Given the description of an element on the screen output the (x, y) to click on. 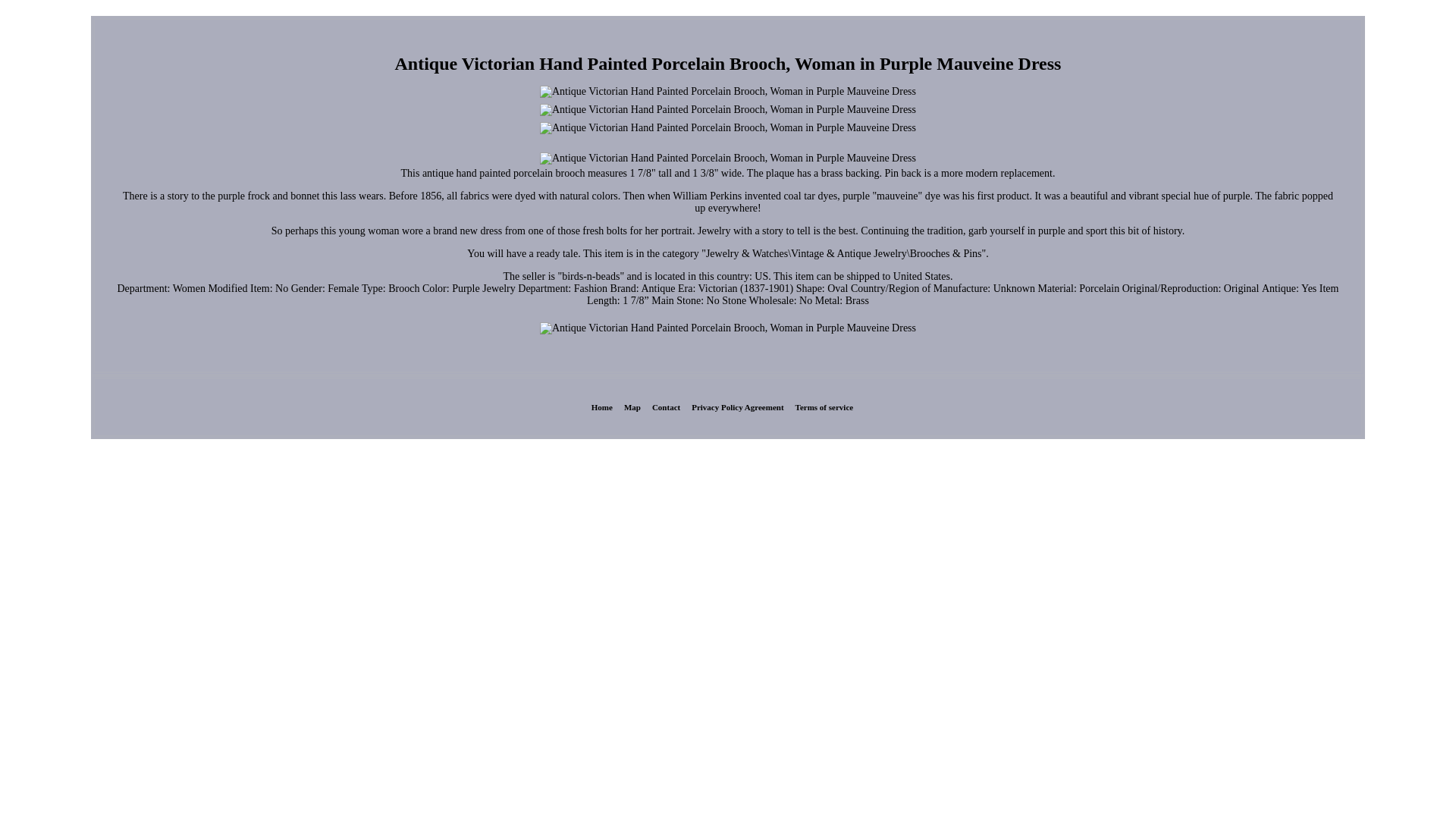
Home (601, 406)
Privacy Policy Agreement (737, 406)
Map (632, 406)
Contact (665, 406)
Terms of service (823, 406)
